Given the description of an element on the screen output the (x, y) to click on. 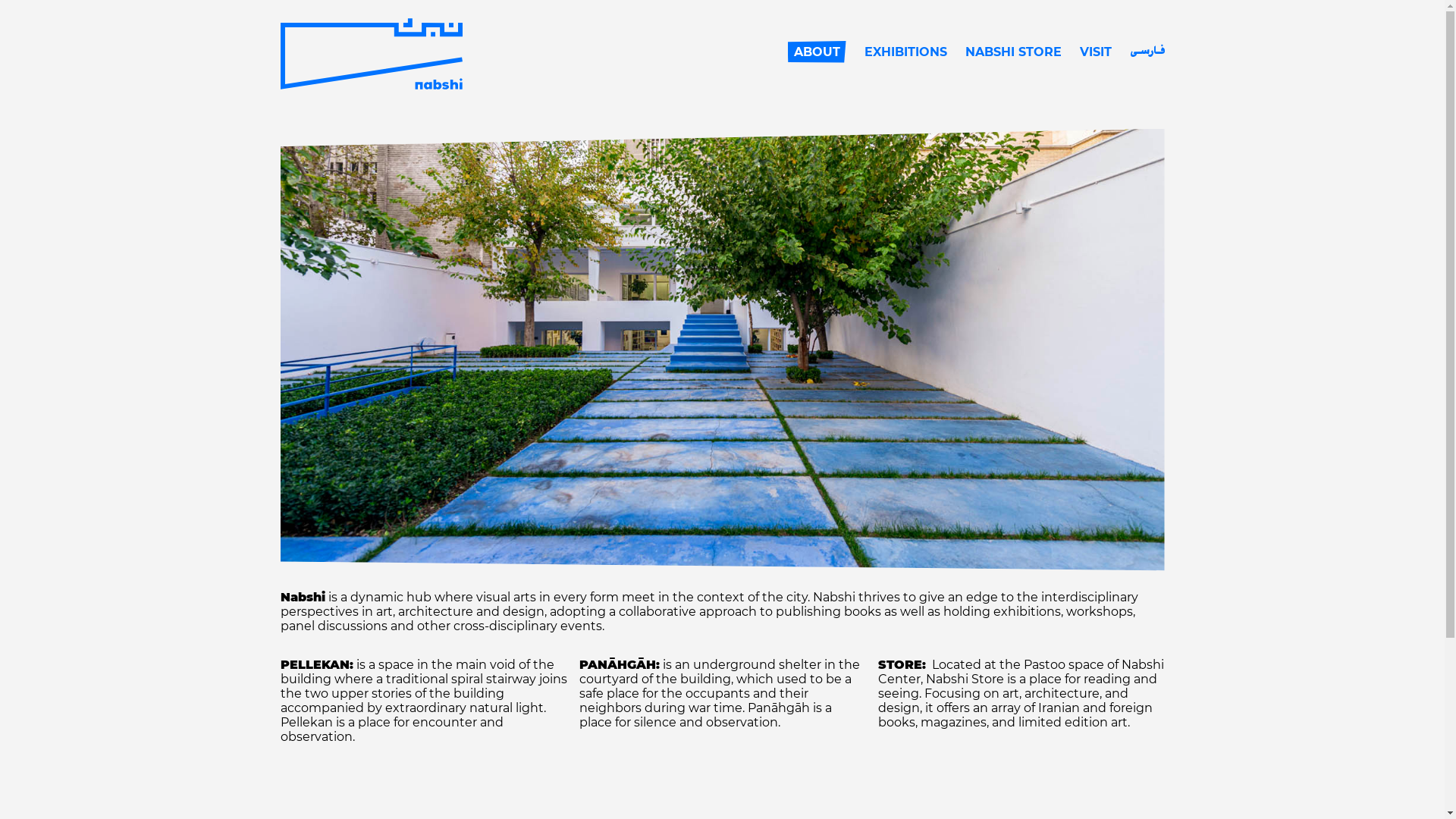
VISIT Element type: text (1095, 51)
NABSHI STORE Element type: text (1012, 51)
EXHIBITIONS Element type: text (905, 51)
ABOUT Element type: text (816, 51)
